Given the description of an element on the screen output the (x, y) to click on. 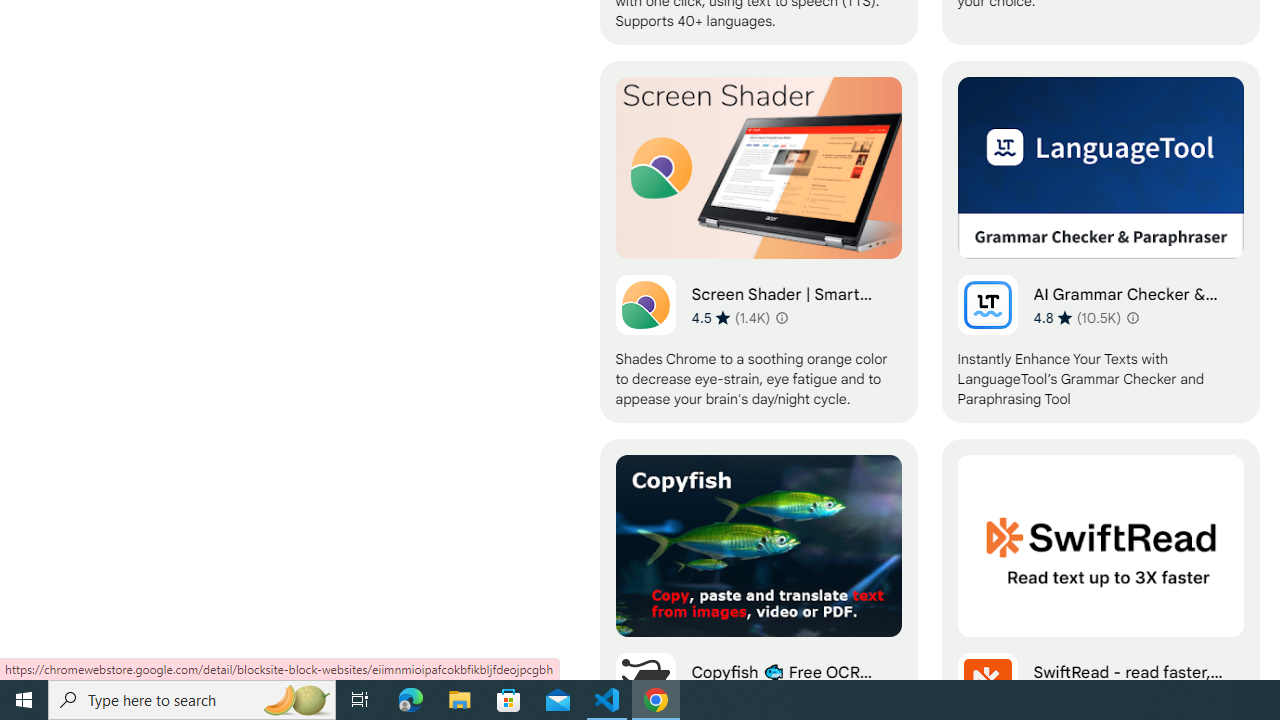
Screen Shader | Smart Screen Tinting (758, 242)
Average rating 4.5 out of 5 stars. 1.4K ratings. (730, 317)
Average rating 4.8 out of 5 stars. 10.5K ratings. (1077, 317)
